Given the description of an element on the screen output the (x, y) to click on. 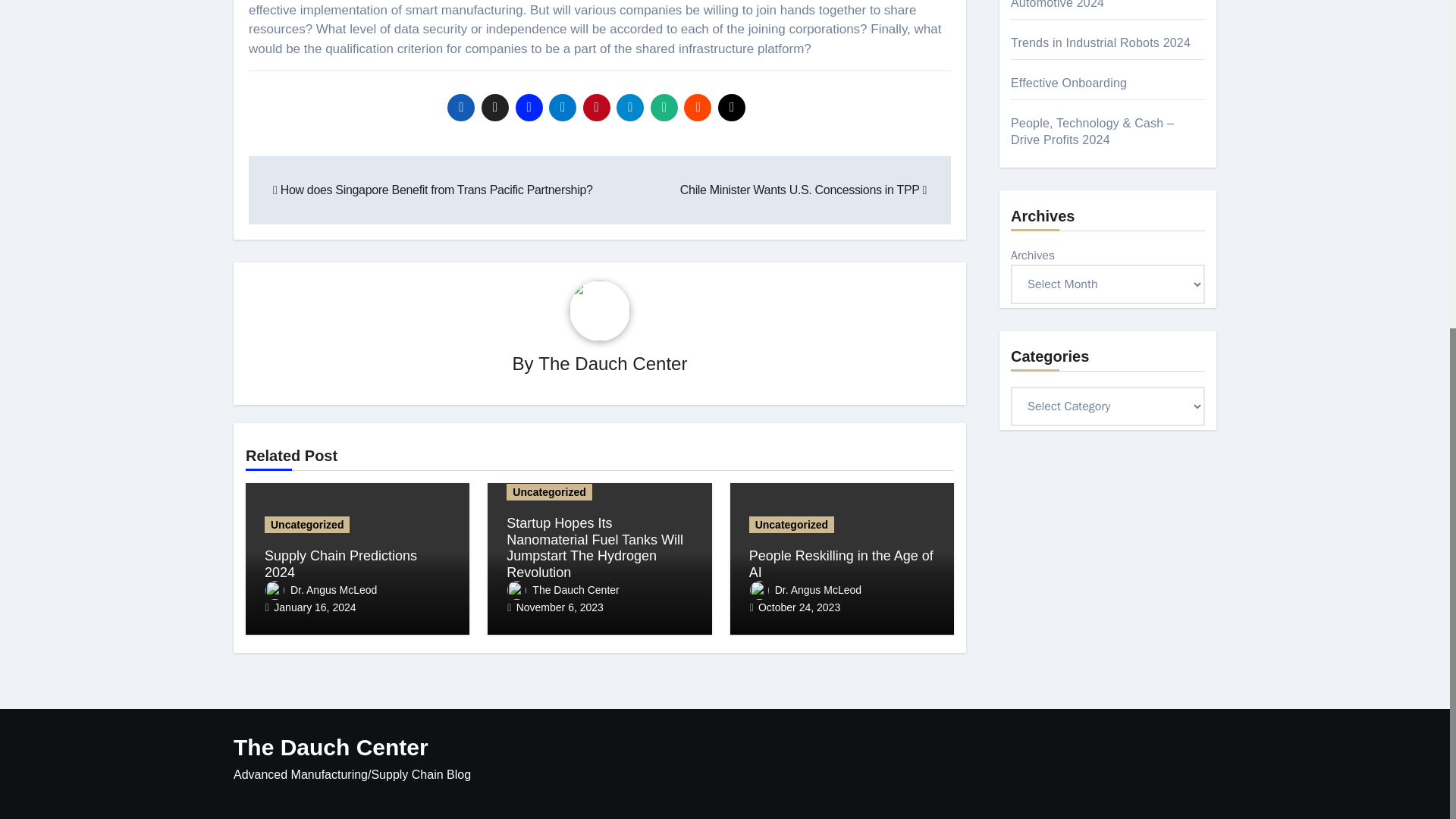
The Dauch Center (562, 589)
Permalink to: People Reskilling in the Age of AI (841, 563)
November 6, 2023 (560, 607)
Permalink to: Supply Chain Predictions 2024 (340, 563)
Uncategorized (306, 524)
Chile Minister Wants U.S. Concessions in TPP (802, 189)
Supply Chain Predictions 2024 (340, 563)
Dr. Angus McLeod (320, 589)
